Given the description of an element on the screen output the (x, y) to click on. 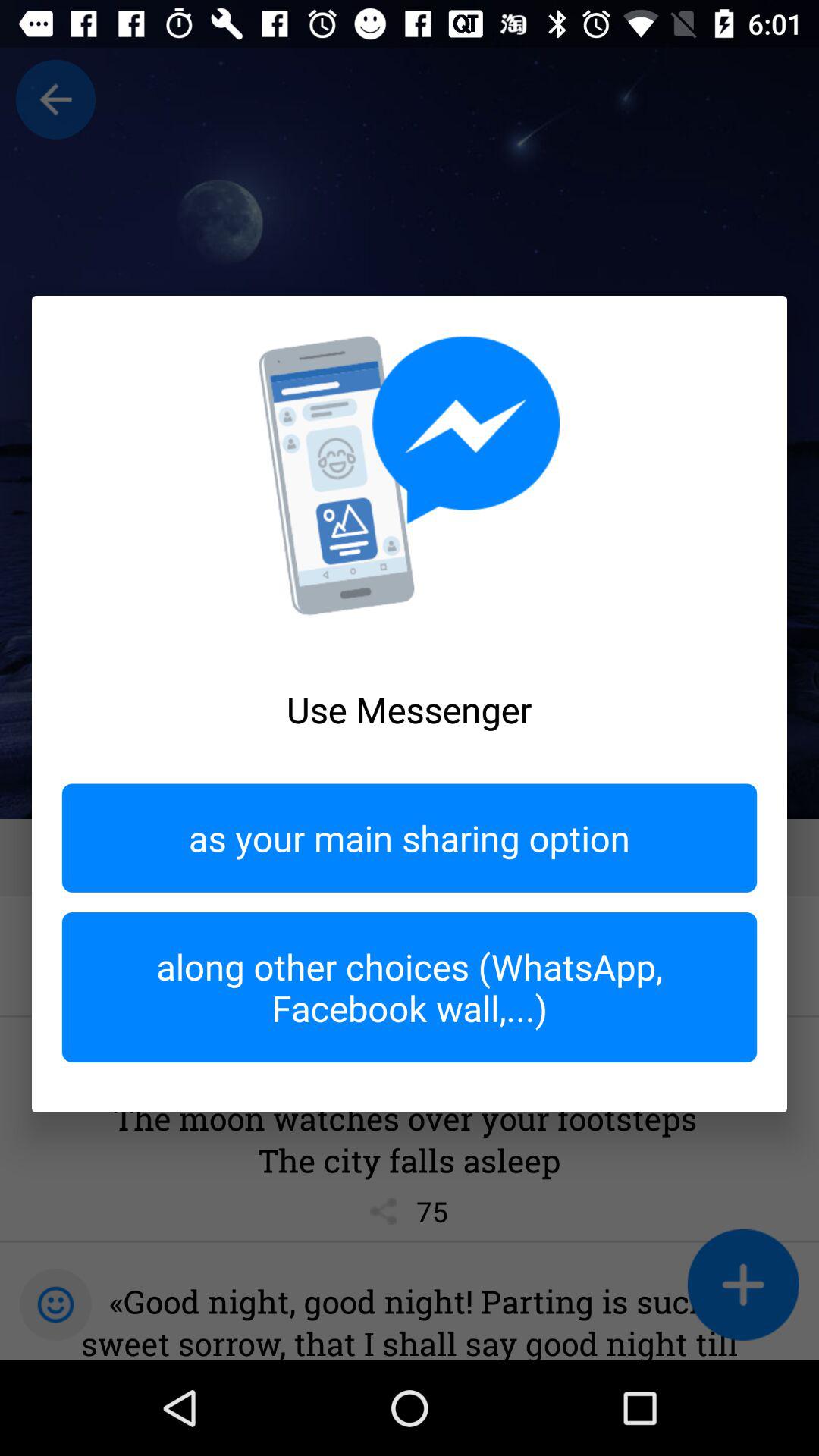
scroll until the along other choices (409, 987)
